Given the description of an element on the screen output the (x, y) to click on. 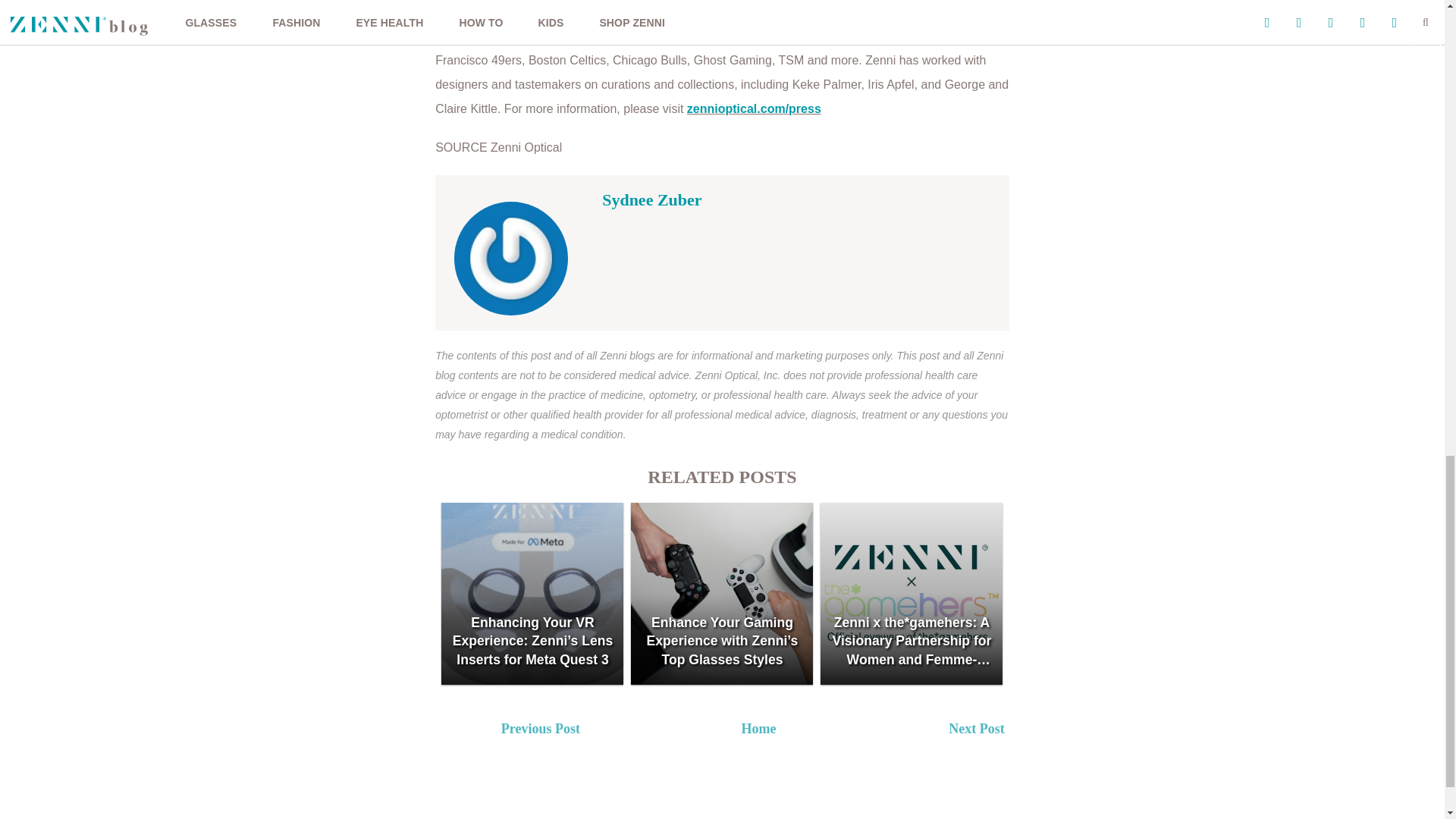
Sydnee Zuber (651, 199)
Next Post (1053, 731)
Home (758, 728)
Previous Post (605, 731)
